Given the description of an element on the screen output the (x, y) to click on. 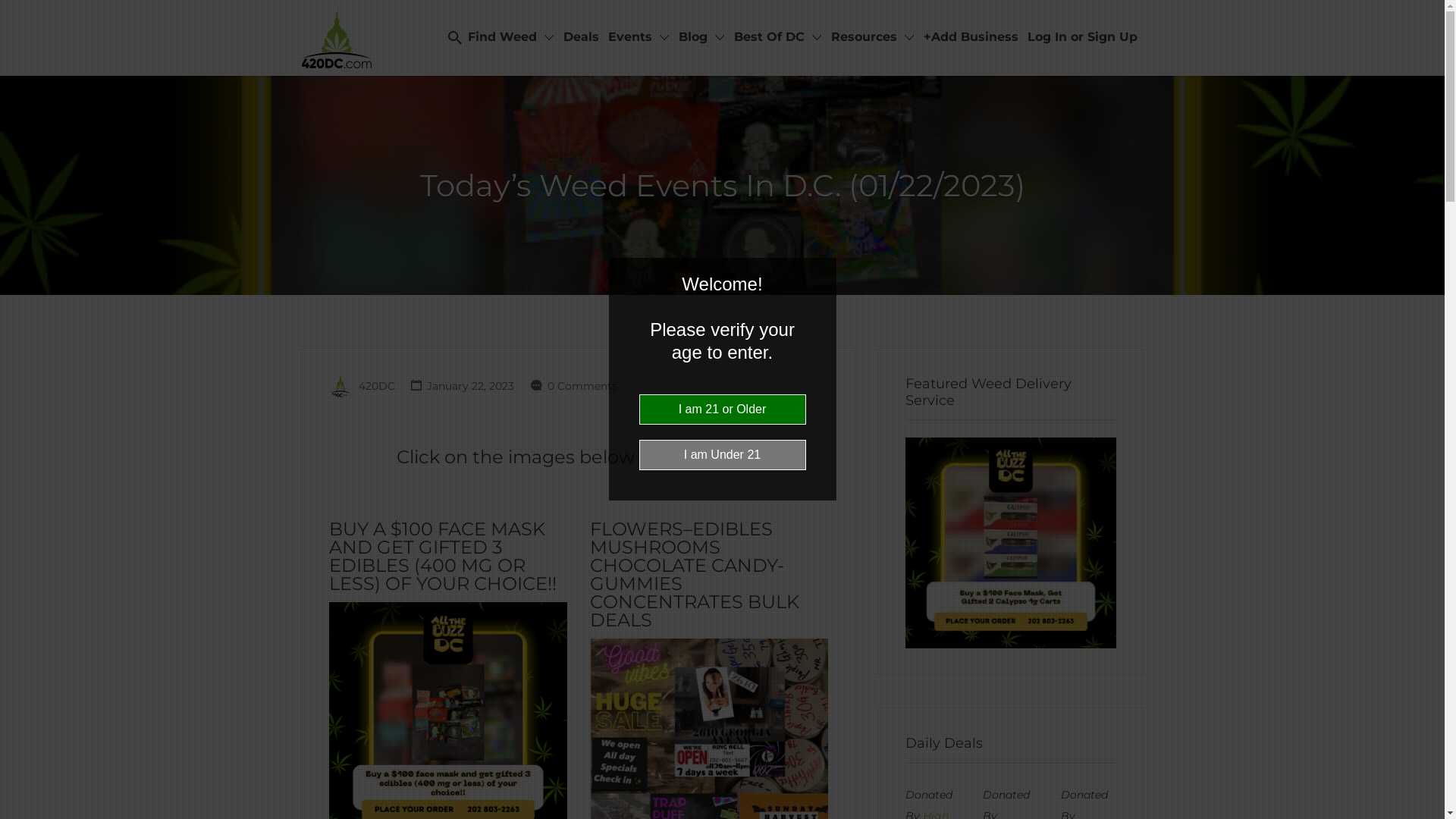
Log In or Sign Up Element type: text (1081, 36)
0 Comments Element type: text (582, 385)
I am 21 or Older Element type: text (721, 409)
Events Element type: text (630, 36)
Resources Element type: text (864, 36)
Blog Element type: text (691, 36)
Deals Element type: text (580, 36)
Find Weed Element type: text (501, 36)
Best Of DC Element type: text (769, 36)
+Add Business Element type: text (970, 36)
I am Under 21 Element type: text (721, 454)
Featured Weed Delivery Service Element type: hover (1010, 542)
420DC Element type: text (375, 385)
